Given the description of an element on the screen output the (x, y) to click on. 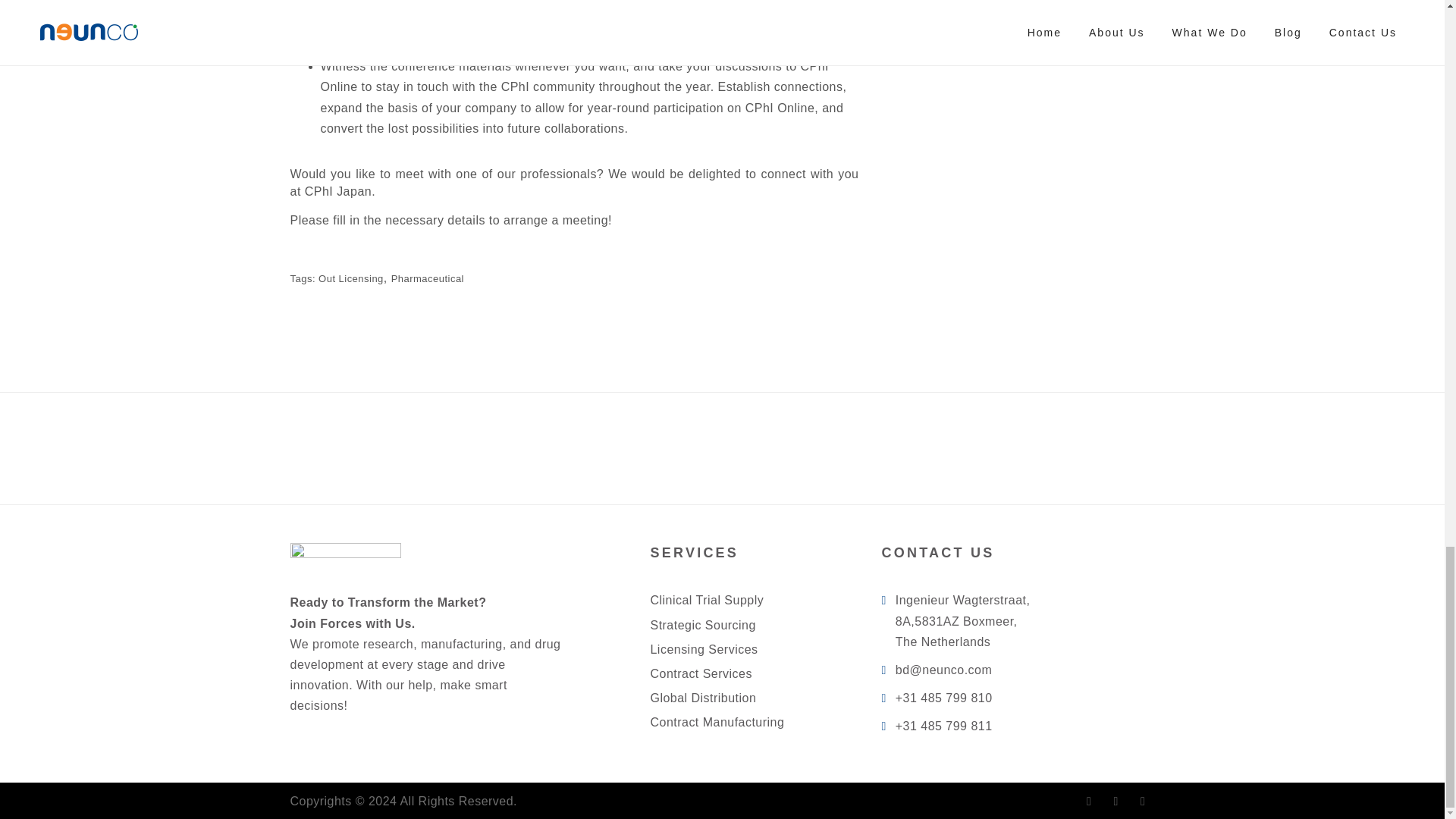
Out Licensing (351, 278)
Clinical Trial Supply (705, 599)
Tags: (303, 278)
Pharmaceutical (427, 278)
